Given the description of an element on the screen output the (x, y) to click on. 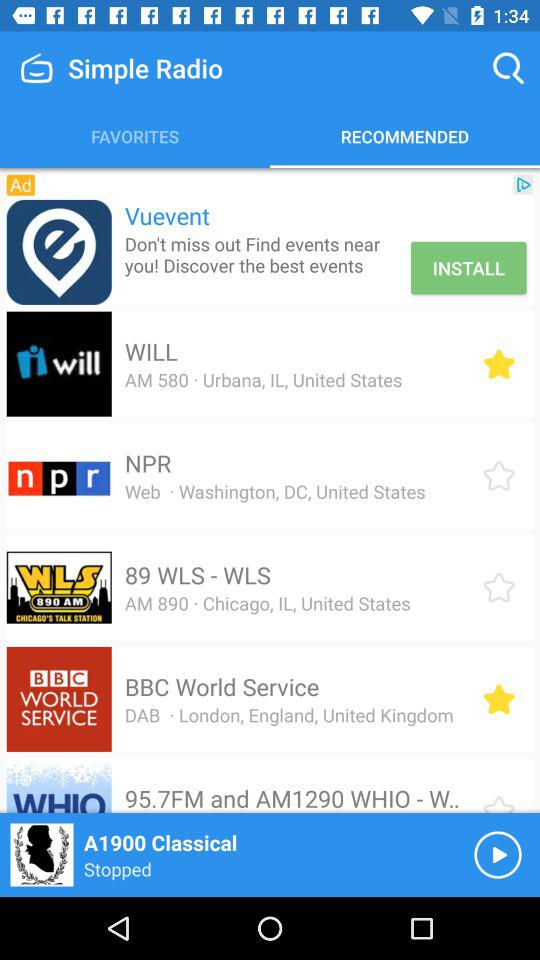
turn off dab london england icon (288, 714)
